Given the description of an element on the screen output the (x, y) to click on. 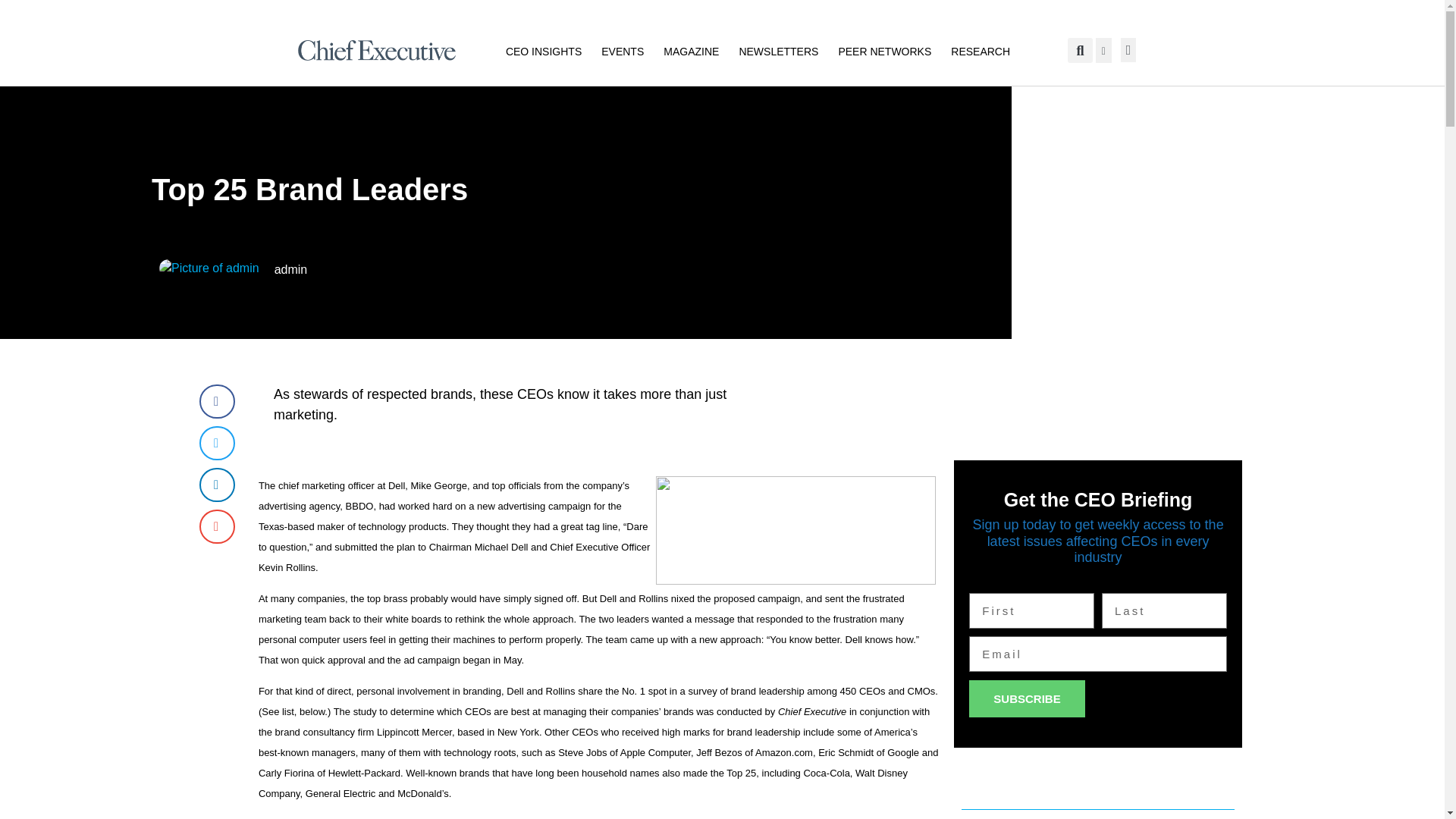
RESEARCH (980, 50)
EVENTS (622, 50)
MAGAZINE (691, 50)
NEWSLETTERS (778, 50)
CEO INSIGHTS (543, 50)
PEER NETWORKS (884, 50)
